Given the description of an element on the screen output the (x, y) to click on. 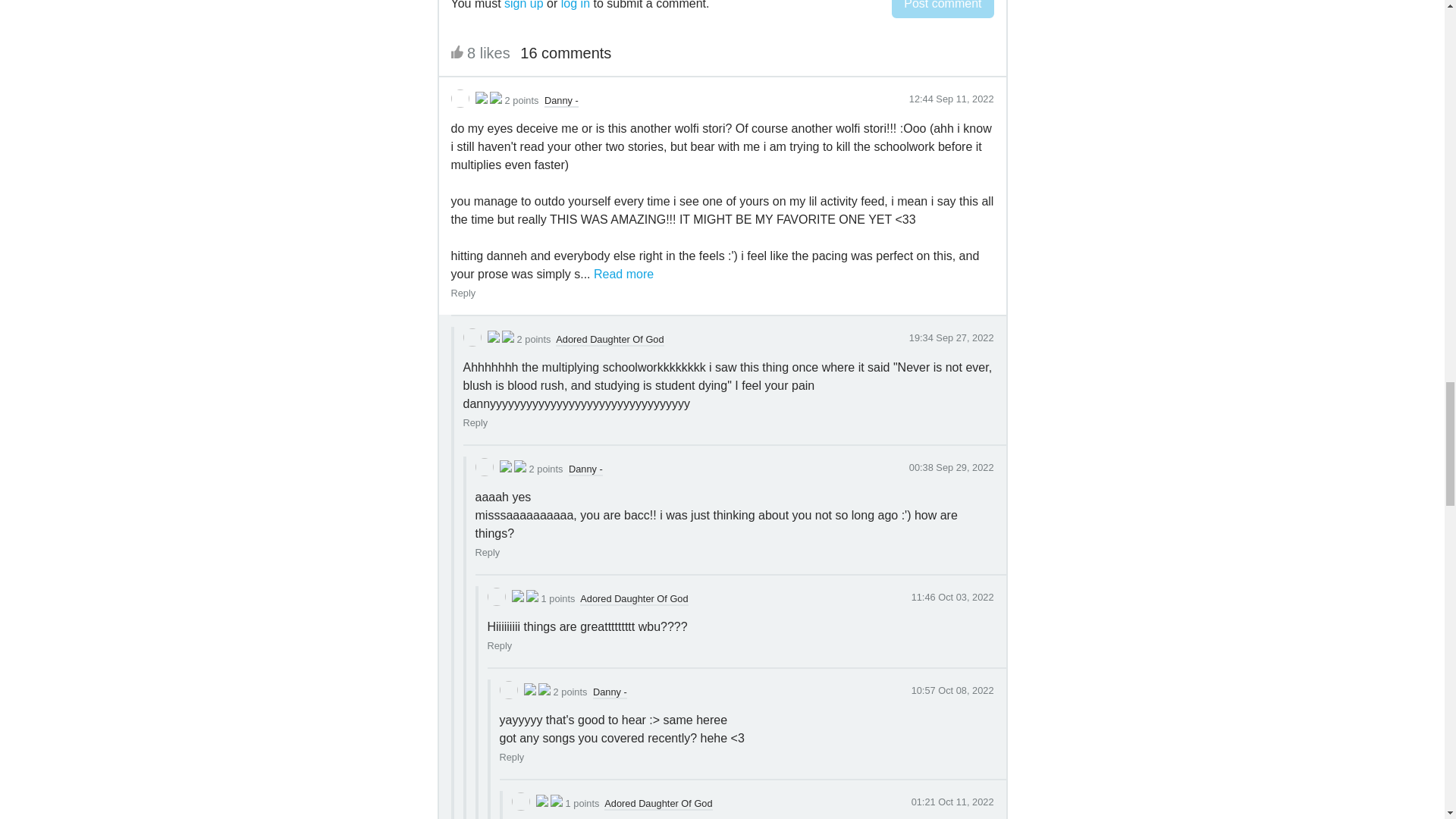
Post comment (941, 9)
Read more (623, 274)
